Given the description of an element on the screen output the (x, y) to click on. 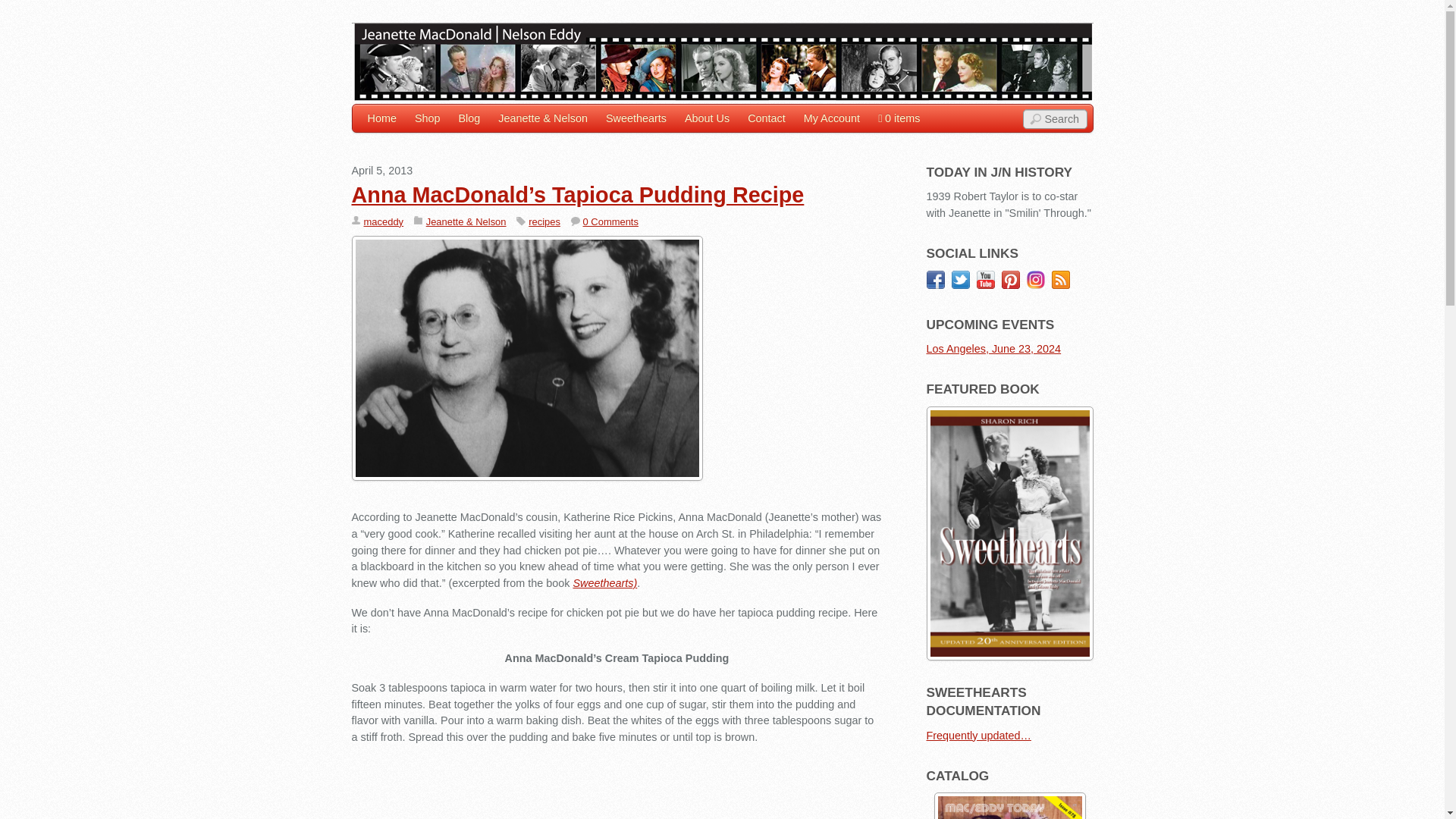
Sweethearts by Sharon Rich (604, 582)
Sweethearts (635, 117)
Home (381, 117)
Blog (468, 117)
About Us (706, 117)
Shop (427, 117)
Start shopping (898, 117)
